Given the description of an element on the screen output the (x, y) to click on. 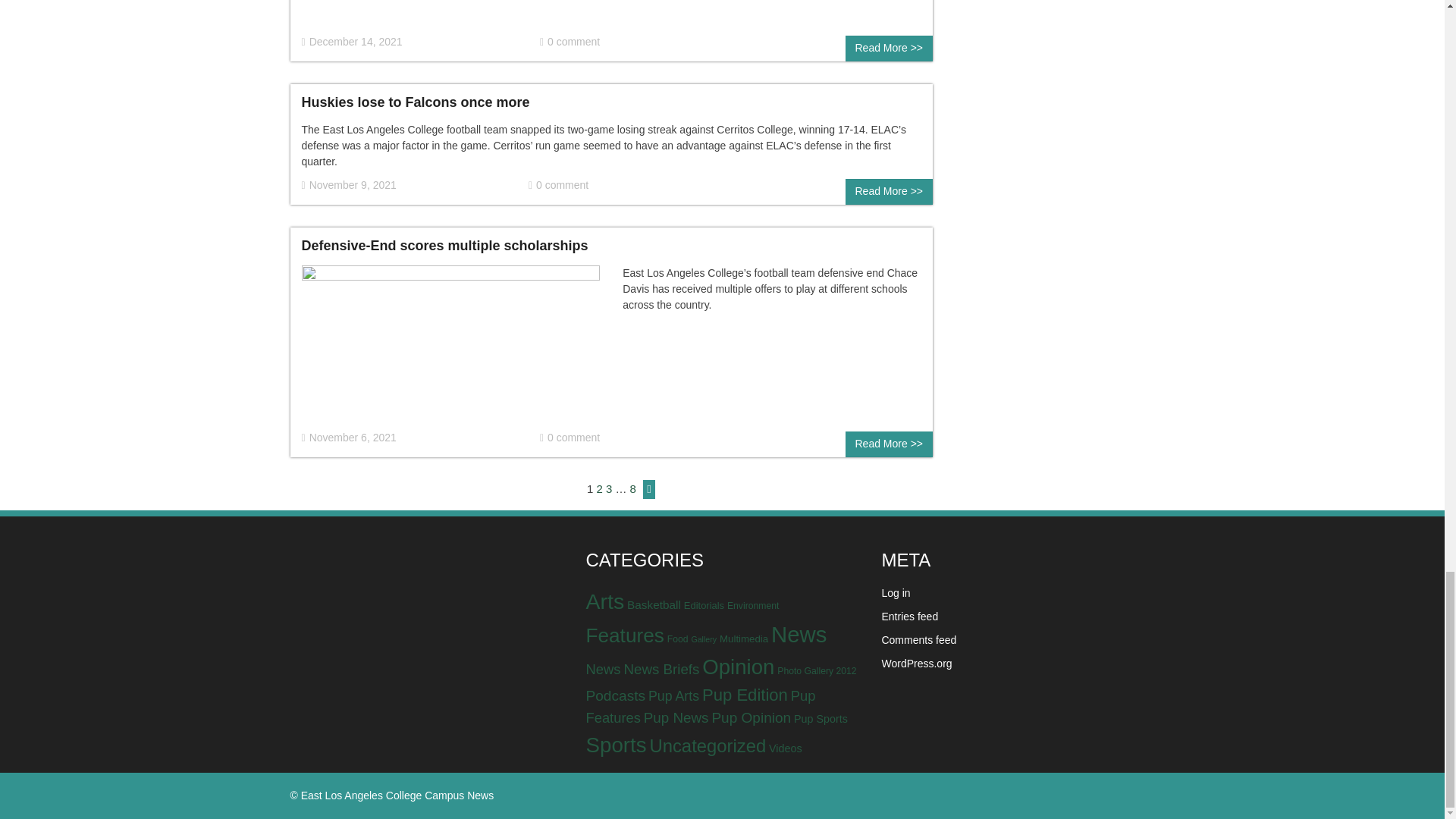
Defensive-End scores multiple scholarships (450, 346)
